Given the description of an element on the screen output the (x, y) to click on. 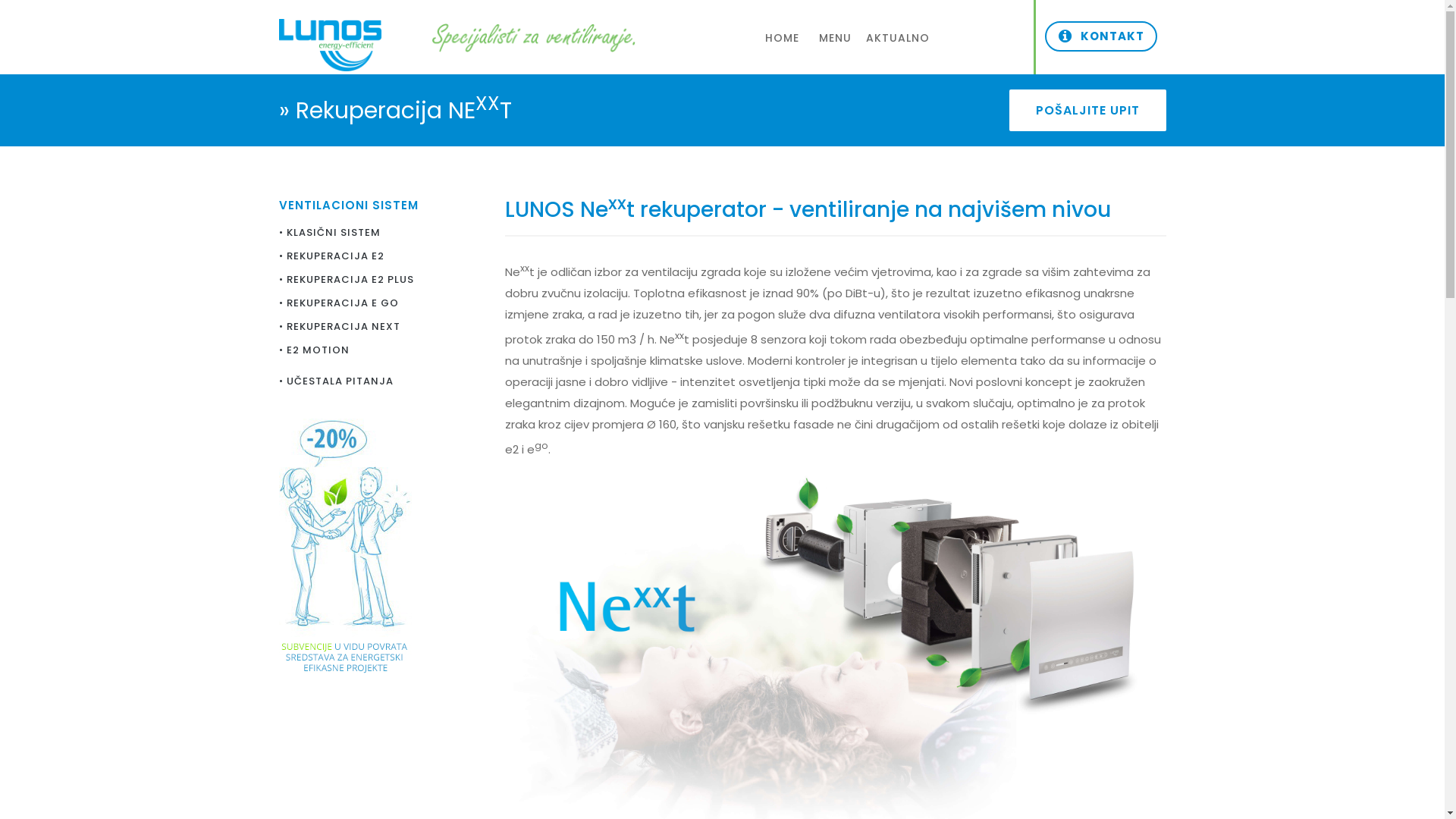
AKTUALNO Element type: text (897, 34)
HOME Element type: text (782, 34)
KONTAKT Element type: text (1100, 36)
MENU Element type: text (835, 34)
VENTILACIONI SISTEM Element type: text (348, 203)
